Given the description of an element on the screen output the (x, y) to click on. 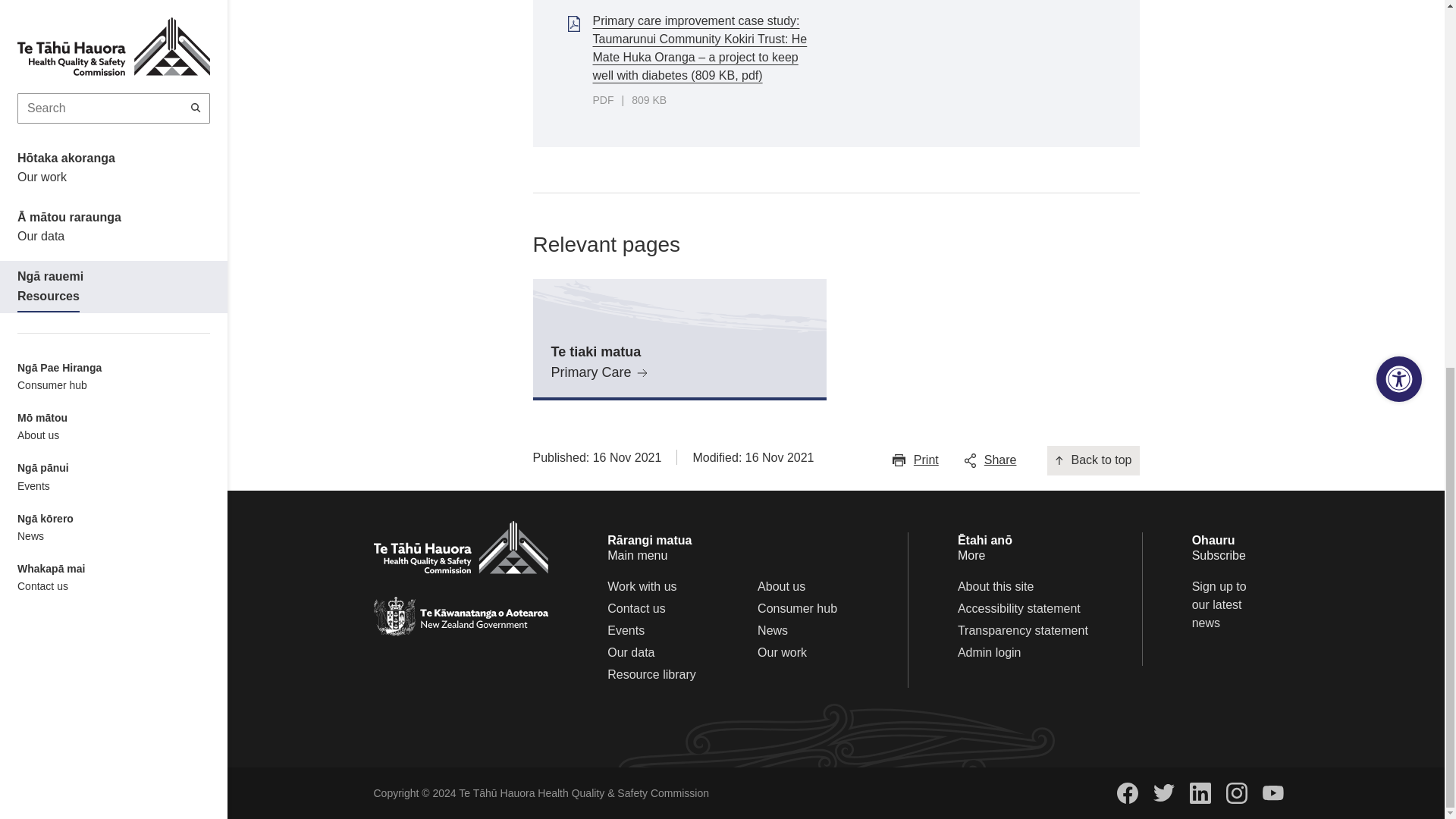
Te tiaki matua-Primary Care (678, 339)
Youtube page (1272, 792)
Twitter page (1163, 792)
Instagram page (1235, 792)
LinkedIn page (1199, 792)
Facebook page (1126, 792)
New Zealand Government (459, 616)
